Given the description of an element on the screen output the (x, y) to click on. 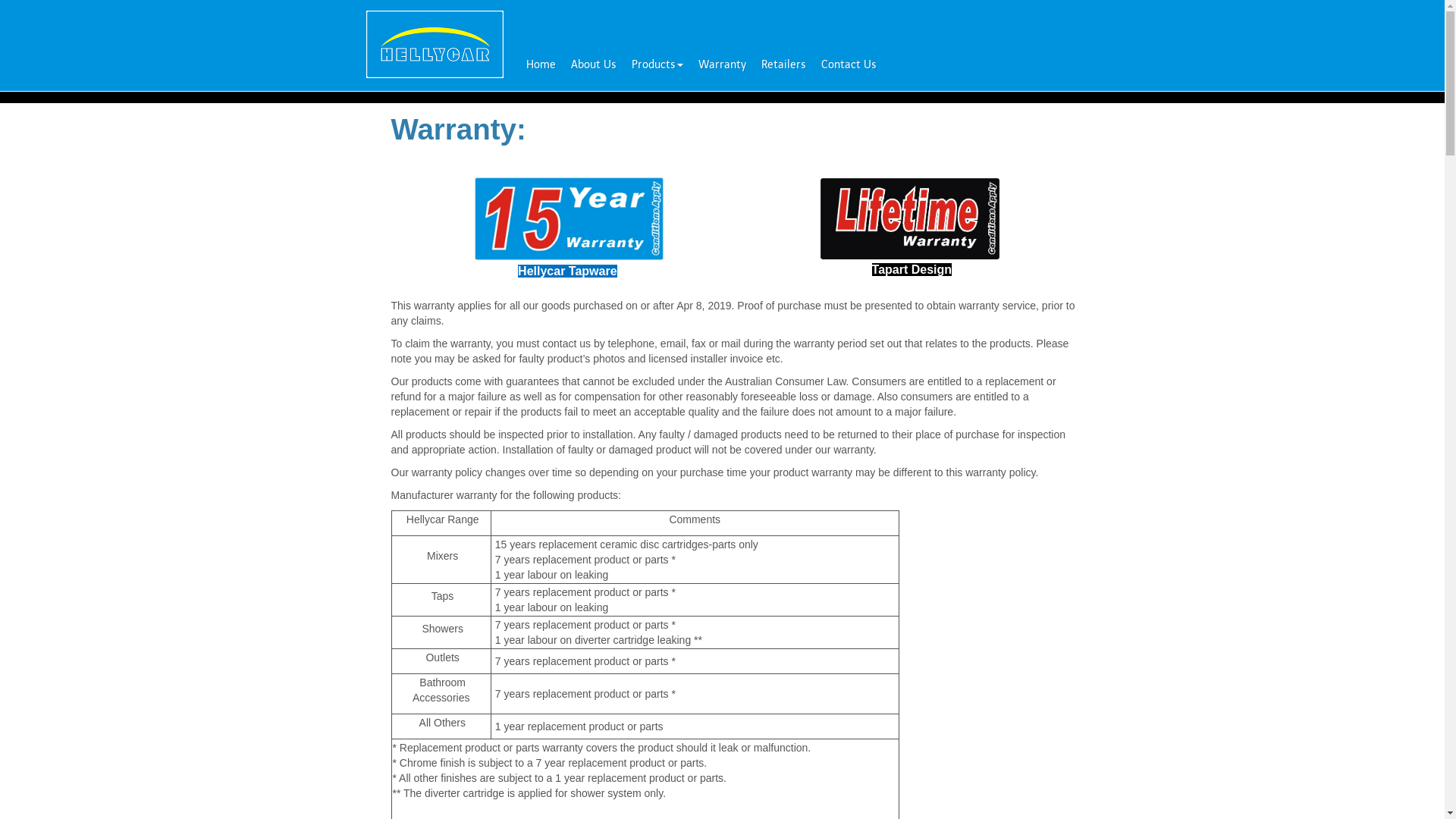
Home Element type: text (540, 64)
Contact Us Element type: text (847, 64)
Retailers Element type: text (783, 64)
Warranty Element type: text (721, 64)
Products Element type: text (656, 64)
About Us Element type: text (592, 64)
